Given the description of an element on the screen output the (x, y) to click on. 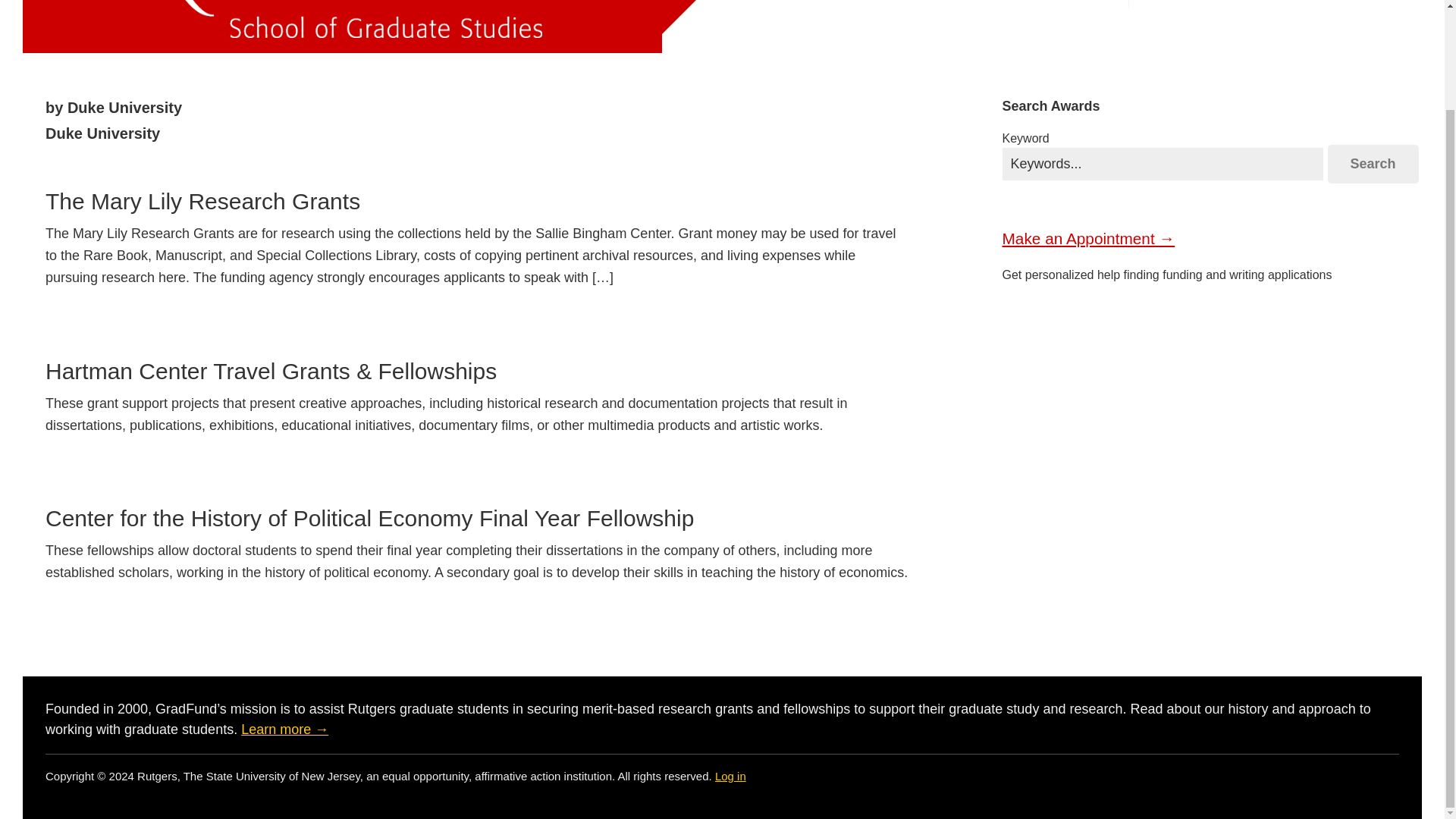
Search (1372, 163)
Log in (729, 775)
The Mary Lily Research Grants (202, 201)
Search (1372, 163)
